Given the description of an element on the screen output the (x, y) to click on. 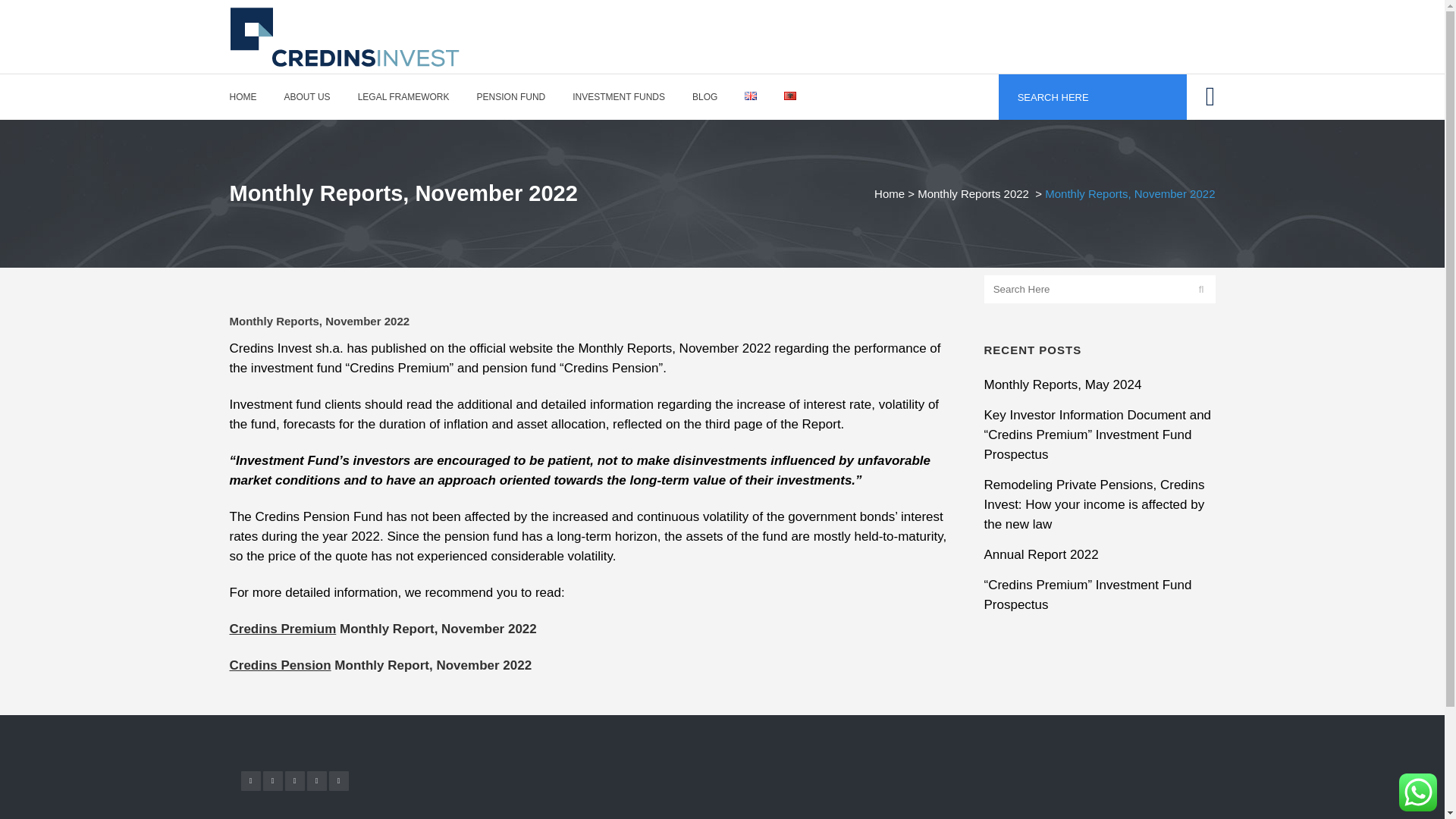
PENSION FUND (511, 96)
INVESTMENT FUNDS (618, 96)
HOME (248, 96)
ABOUT US (306, 96)
LEGAL FRAMEWORK (403, 96)
